Given the description of an element on the screen output the (x, y) to click on. 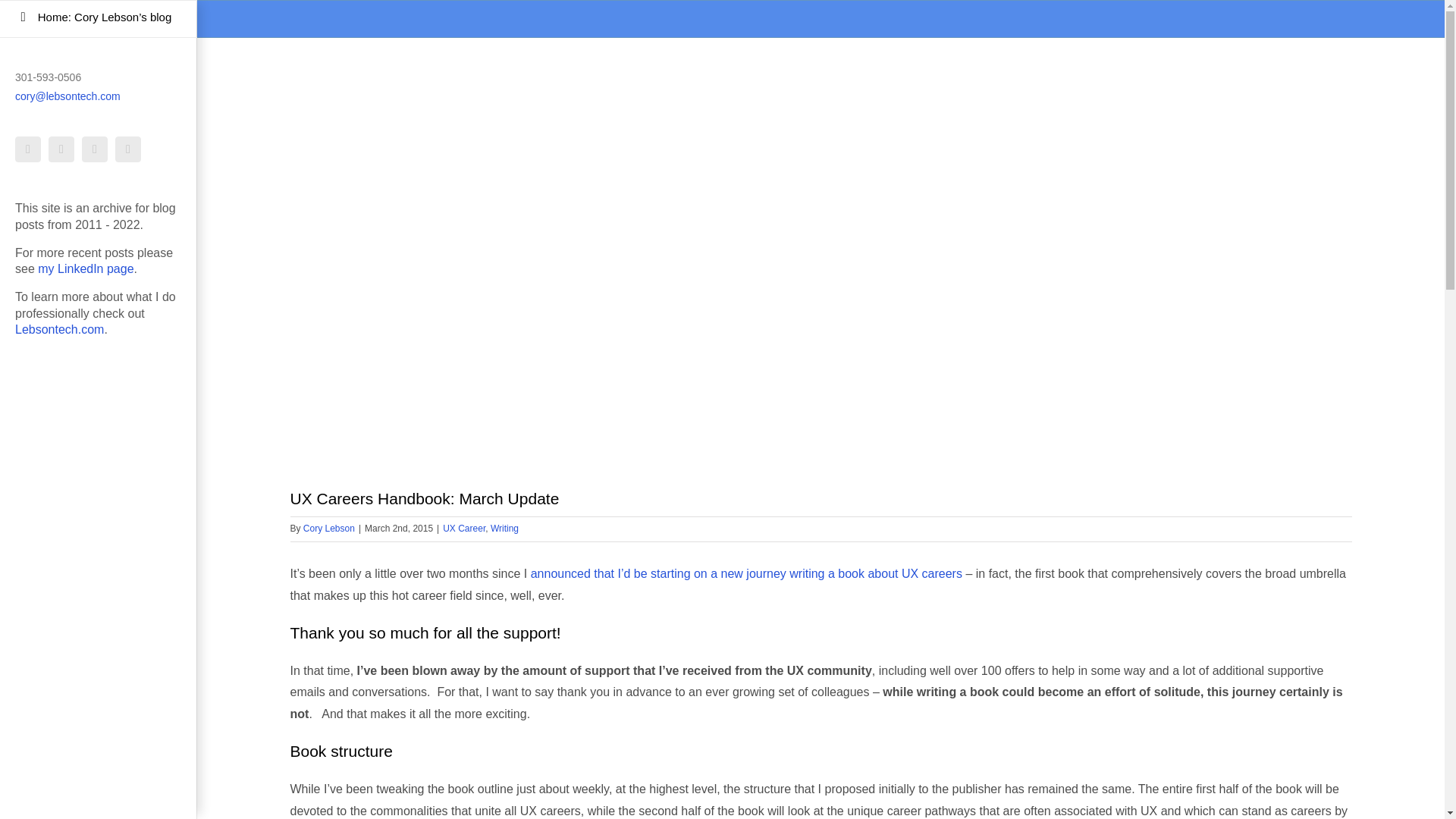
Cory Lebson (328, 528)
Rss (94, 149)
Posts by Cory Lebson (328, 528)
my LinkedIn page (85, 268)
Writing (504, 528)
X (61, 149)
Email (128, 149)
X (61, 149)
UX Career (463, 528)
Email (128, 149)
Rss (94, 149)
LinkedIn (27, 149)
Lebsontech.com (58, 328)
LinkedIn (27, 149)
